Given the description of an element on the screen output the (x, y) to click on. 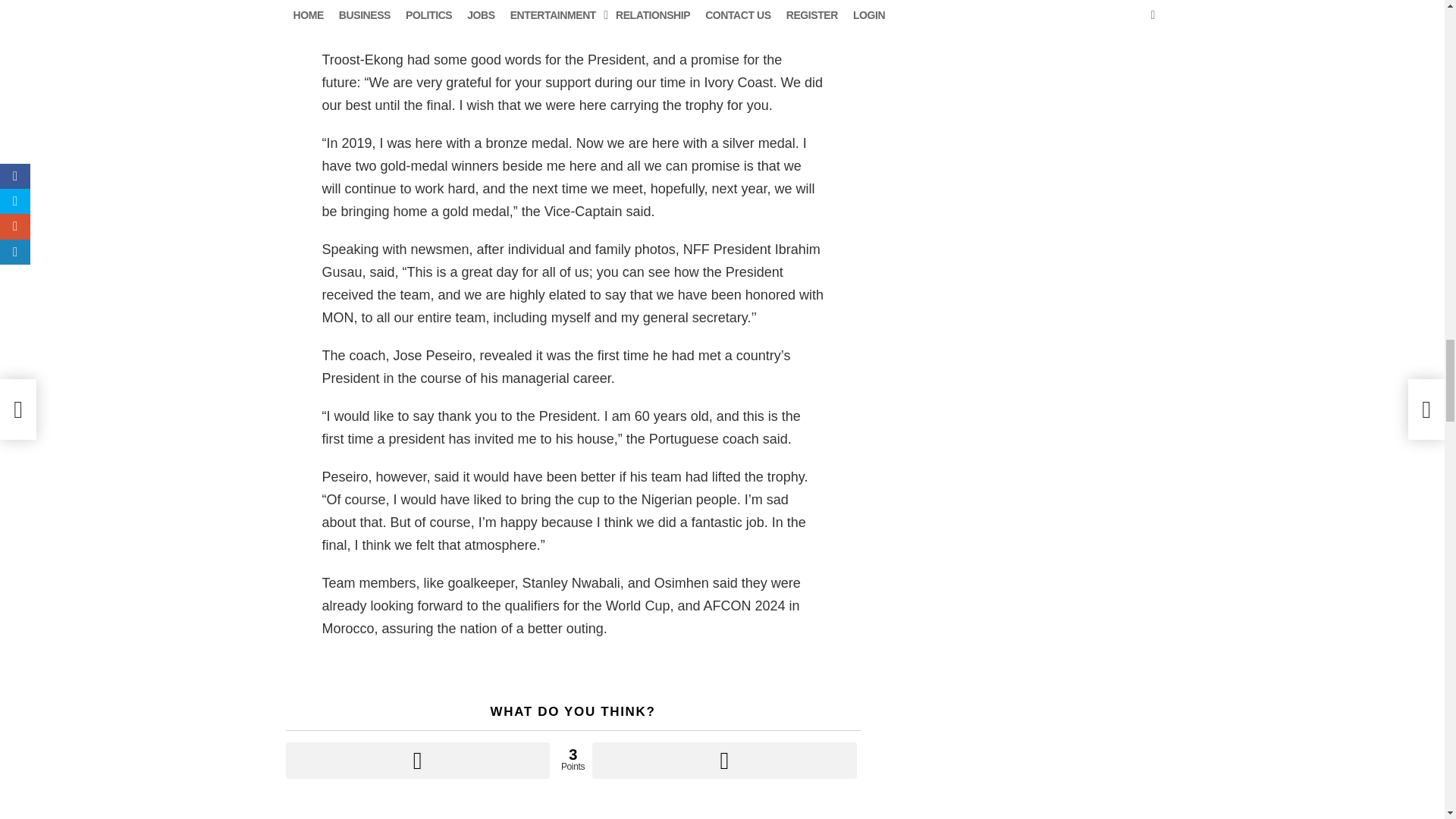
Upvote (416, 760)
Downvote (724, 760)
Upvote (416, 760)
Downvote (724, 760)
